Given the description of an element on the screen output the (x, y) to click on. 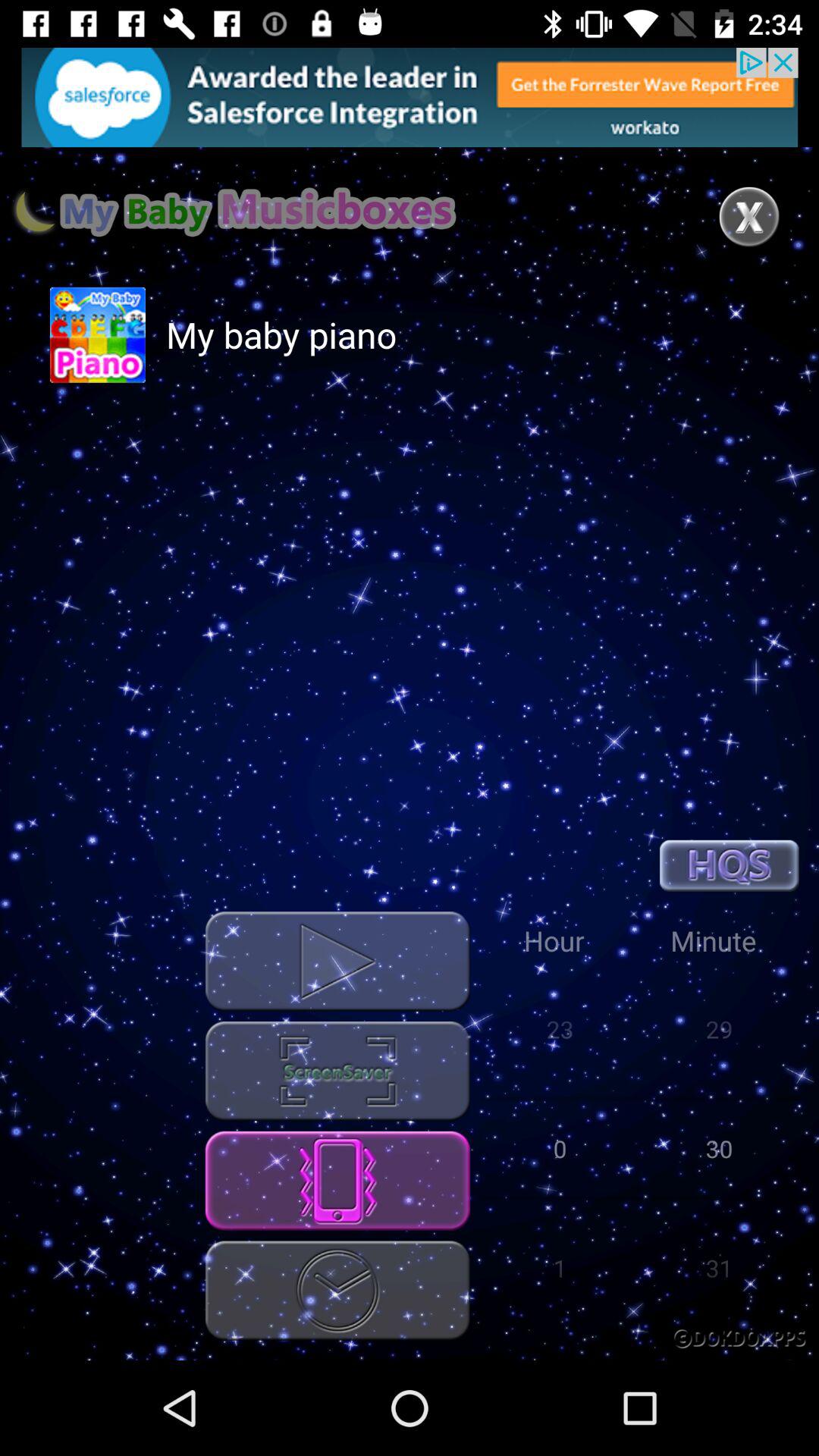
click to find out more (409, 97)
